Given the description of an element on the screen output the (x, y) to click on. 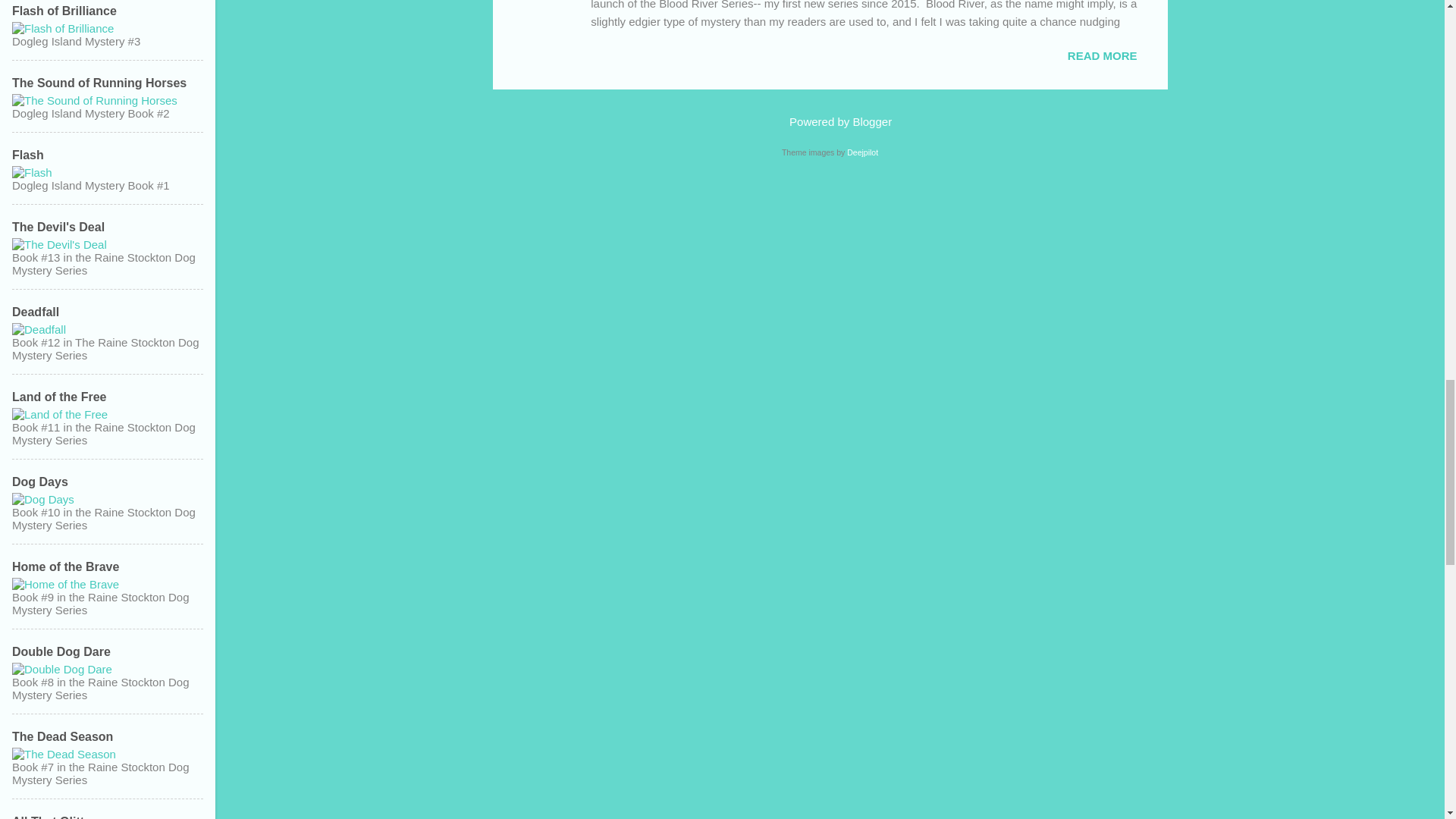
Deejpilot (862, 152)
READ MORE (1102, 55)
Powered by Blogger (829, 121)
